Given the description of an element on the screen output the (x, y) to click on. 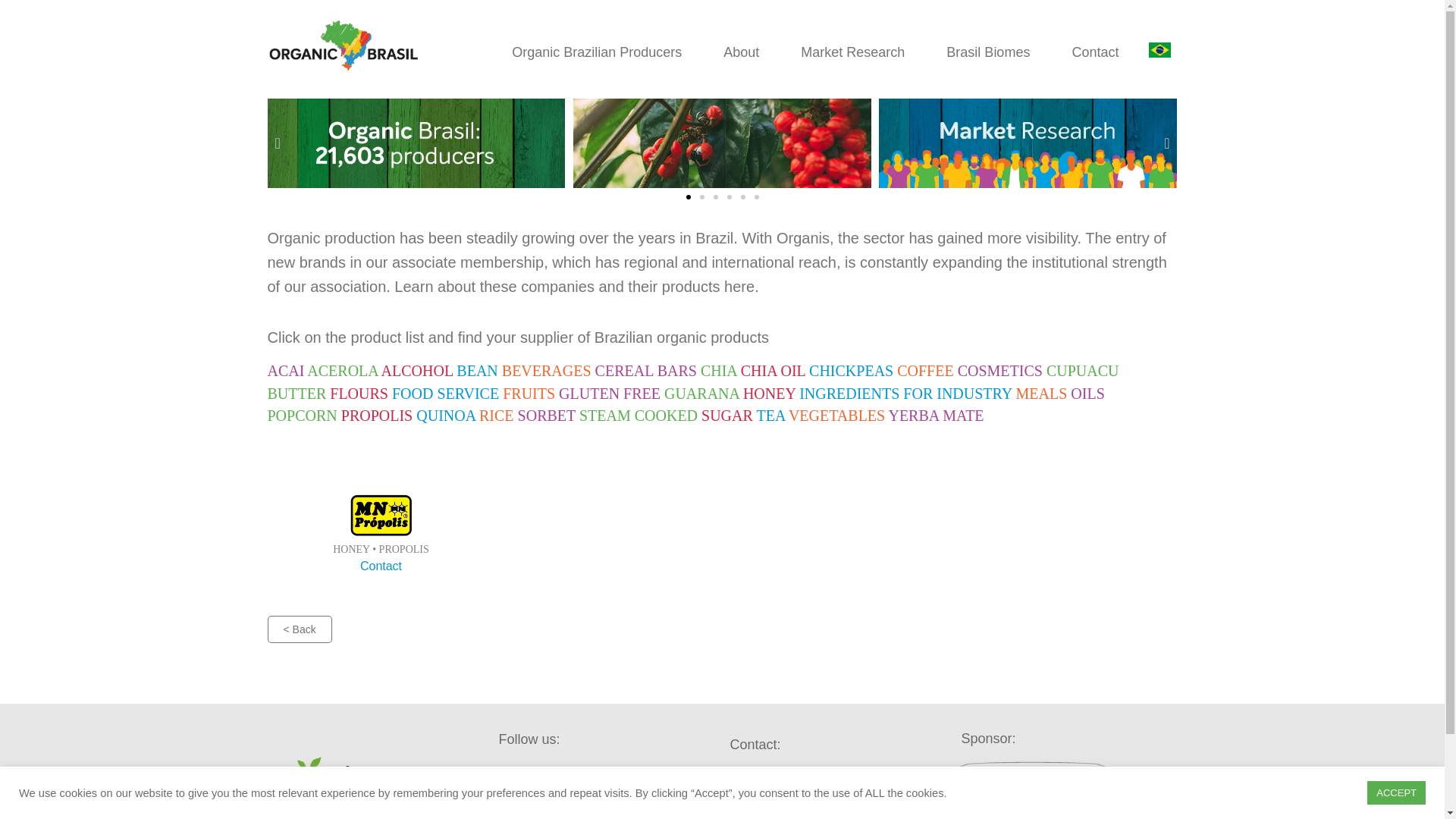
FRUITS (530, 393)
Organic Brazilian Producers (596, 52)
COSMETICS (1002, 370)
GUARANA (702, 393)
FLOURS (360, 393)
ACEROLA (343, 370)
About (740, 52)
ALCOHOL (419, 370)
Market Research (853, 52)
CEREAL BARS (647, 370)
BEVERAGES (548, 370)
ACAI (286, 370)
FOOD SERVICE (446, 393)
Contact (1095, 52)
HONEY (770, 393)
